Given the description of an element on the screen output the (x, y) to click on. 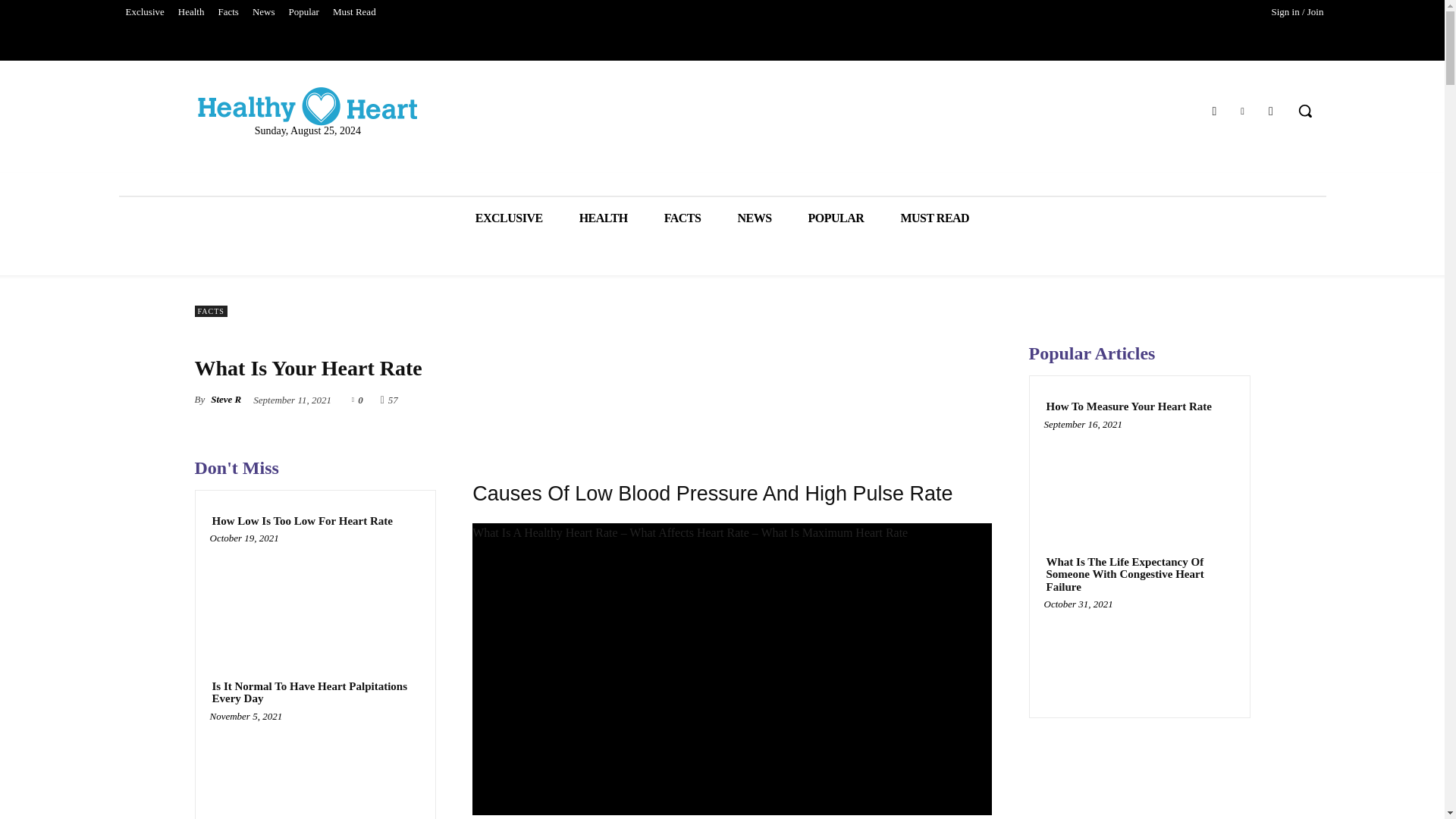
FACTS (682, 218)
Twitter (1241, 109)
How Low Is Too Low For Heart Rate (314, 594)
Must Read (354, 12)
HEALTH (603, 218)
POPULAR (836, 218)
EXCLUSIVE (508, 218)
Healthy Heart World (307, 106)
Facts (227, 12)
Health (191, 12)
